Given the description of an element on the screen output the (x, y) to click on. 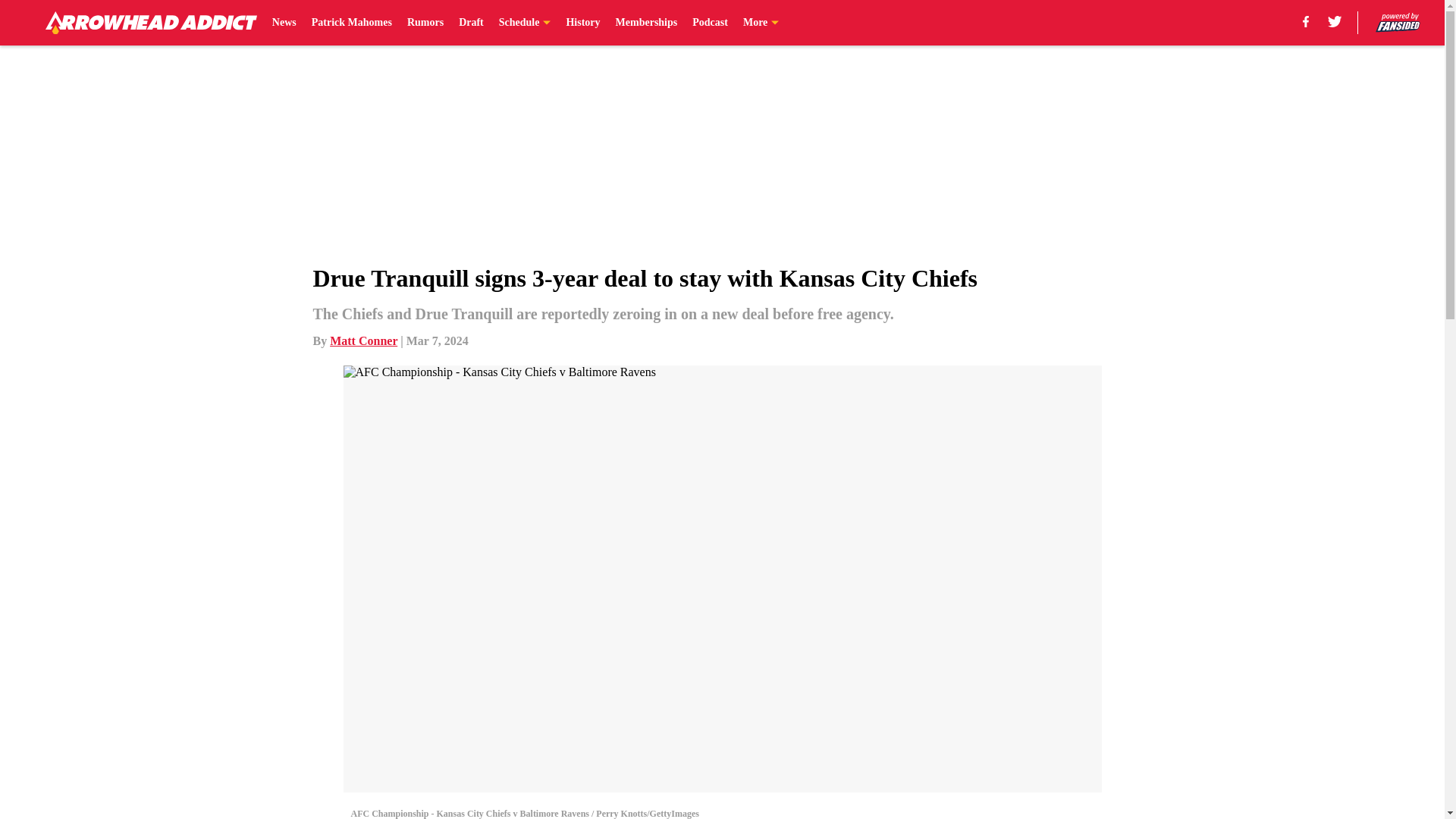
Draft (470, 22)
Rumors (425, 22)
History (582, 22)
Matt Conner (363, 340)
Patrick Mahomes (351, 22)
Memberships (646, 22)
Podcast (710, 22)
News (284, 22)
